Given the description of an element on the screen output the (x, y) to click on. 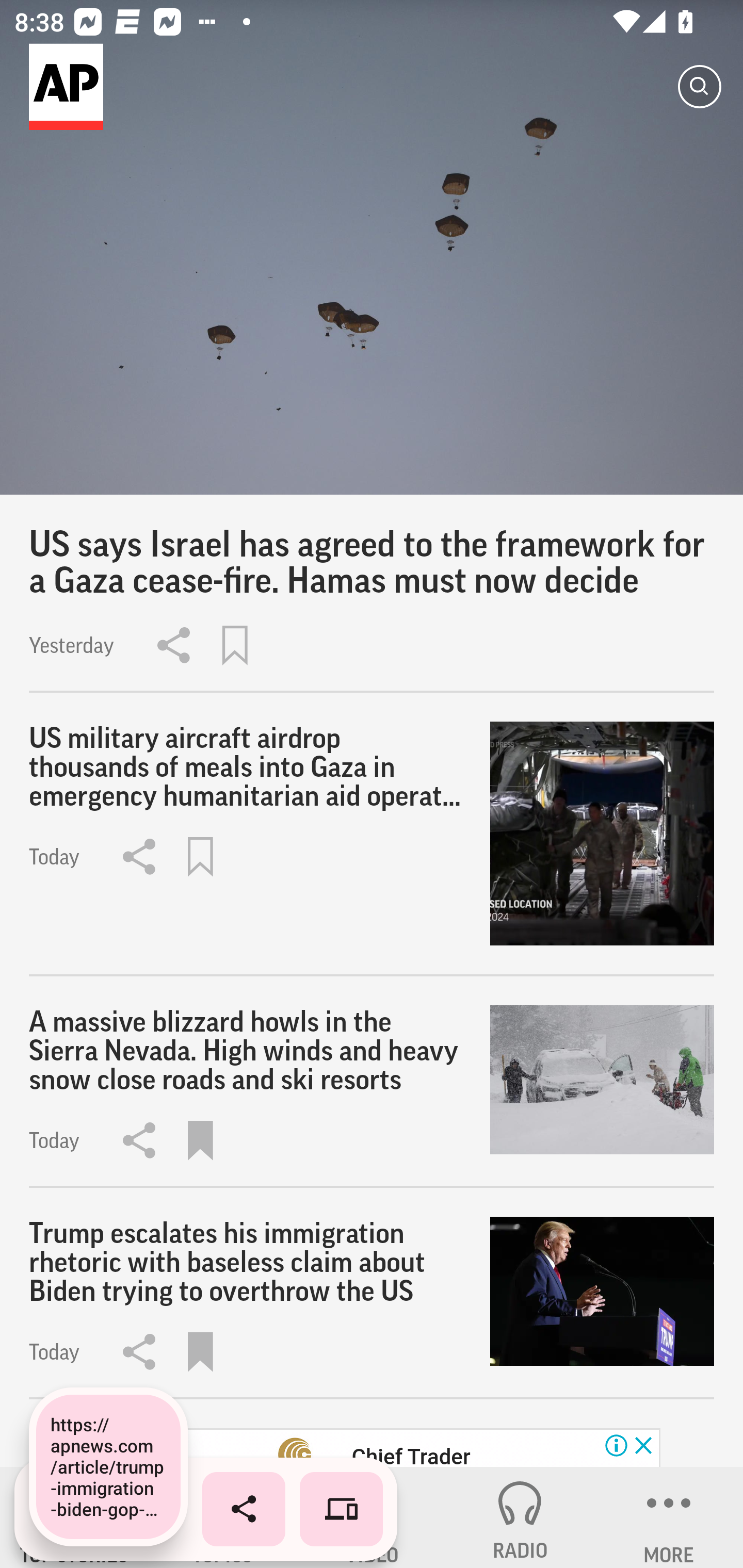
Chief Trader (409, 1454)
TOPICS (222, 1517)
VIDEO (371, 1517)
RADIO (519, 1517)
MORE (668, 1517)
